Given the description of an element on the screen output the (x, y) to click on. 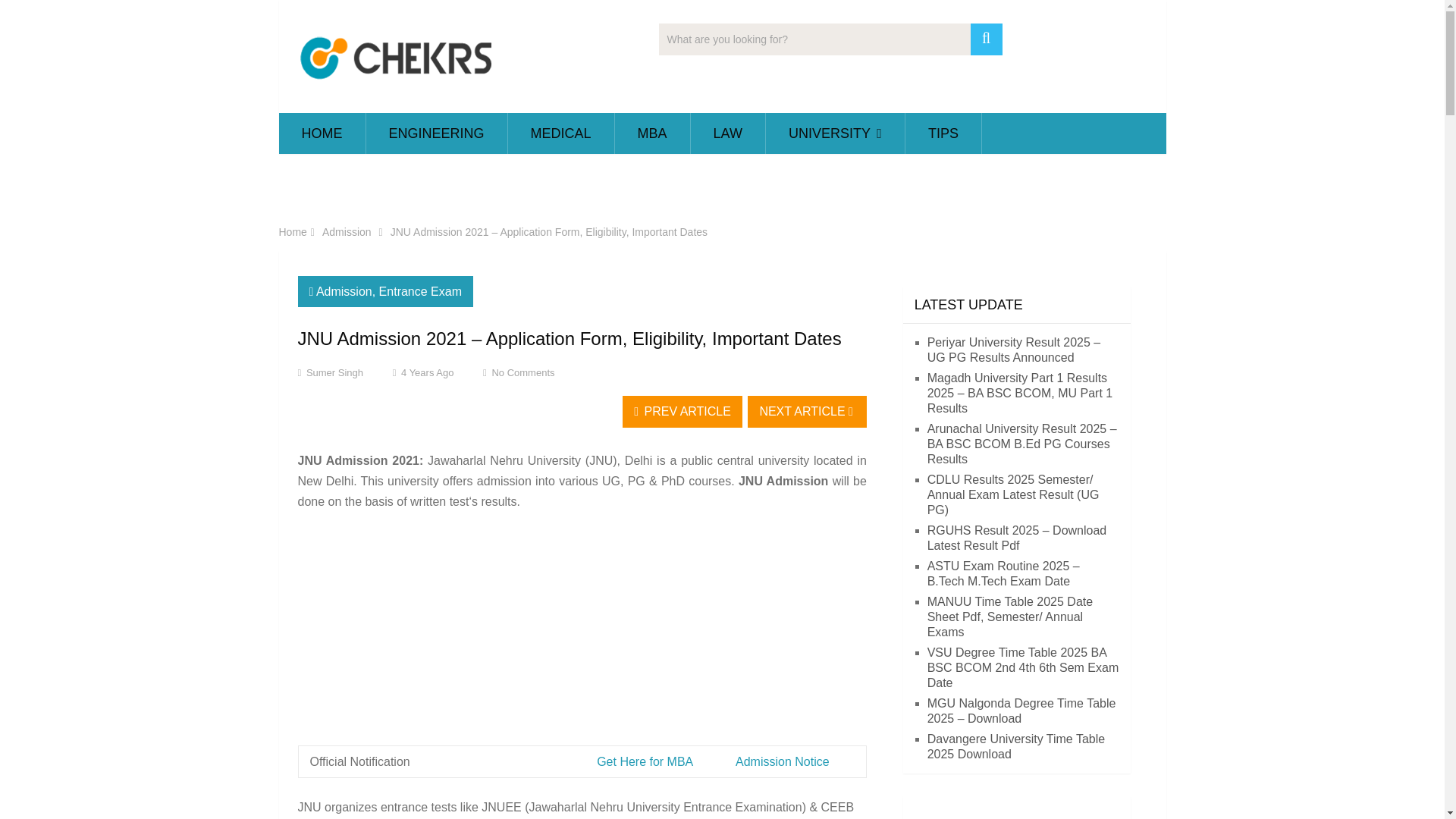
Home (293, 232)
Admission Notice (782, 761)
No Comments (523, 372)
Admission (343, 291)
ENGINEERING (435, 133)
Admission (346, 232)
MBA (652, 133)
View all posts in Admission (343, 291)
HOME (322, 133)
